Given the description of an element on the screen output the (x, y) to click on. 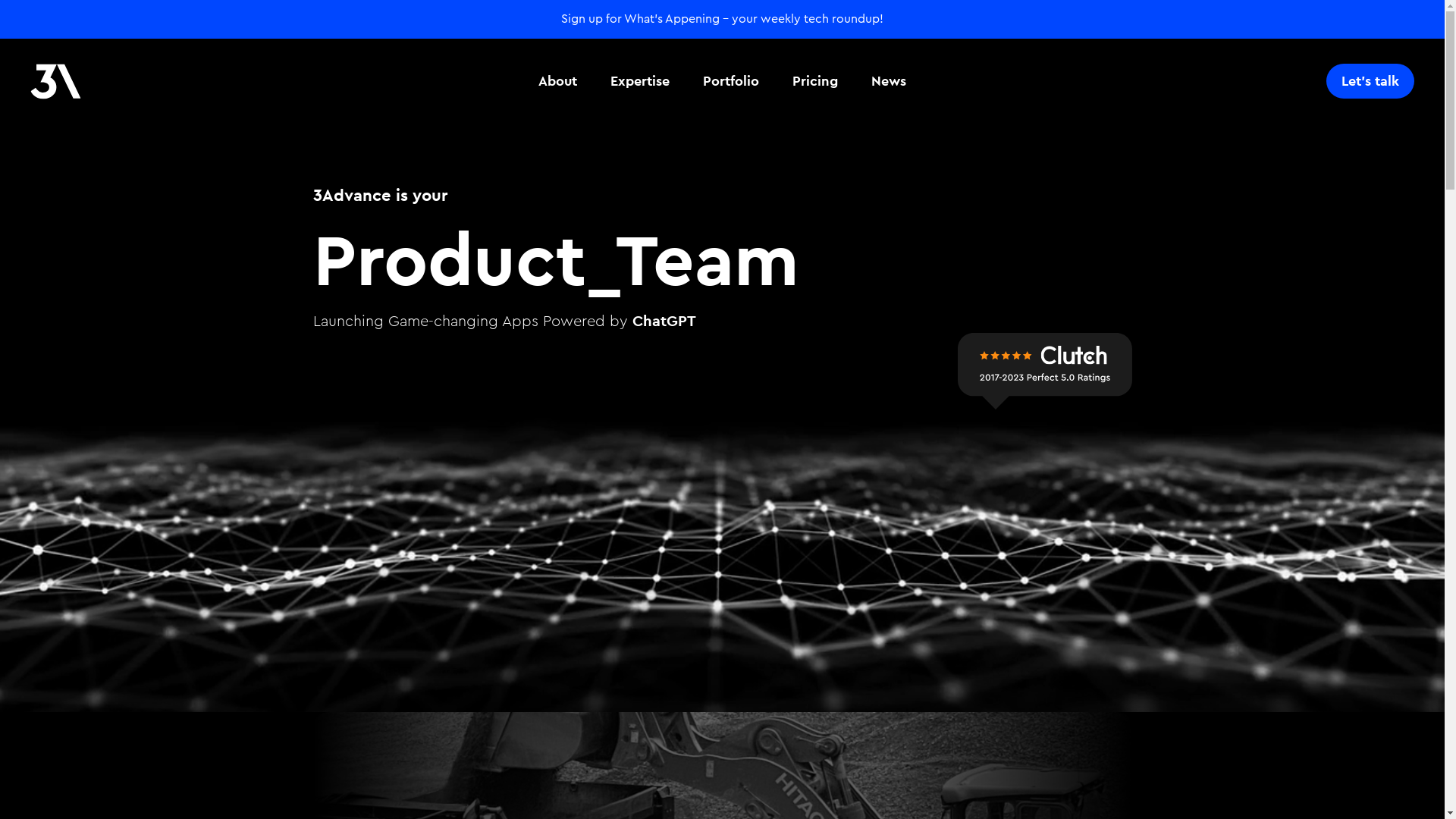
Pricing Element type: text (815, 81)
About Element type: text (557, 81)
News Element type: text (888, 81)
Sign up for What's Appening - your weekly tech roundup! Element type: text (722, 18)
Expertise Element type: text (639, 81)
Portfolio Element type: text (730, 81)
